Given the description of an element on the screen output the (x, y) to click on. 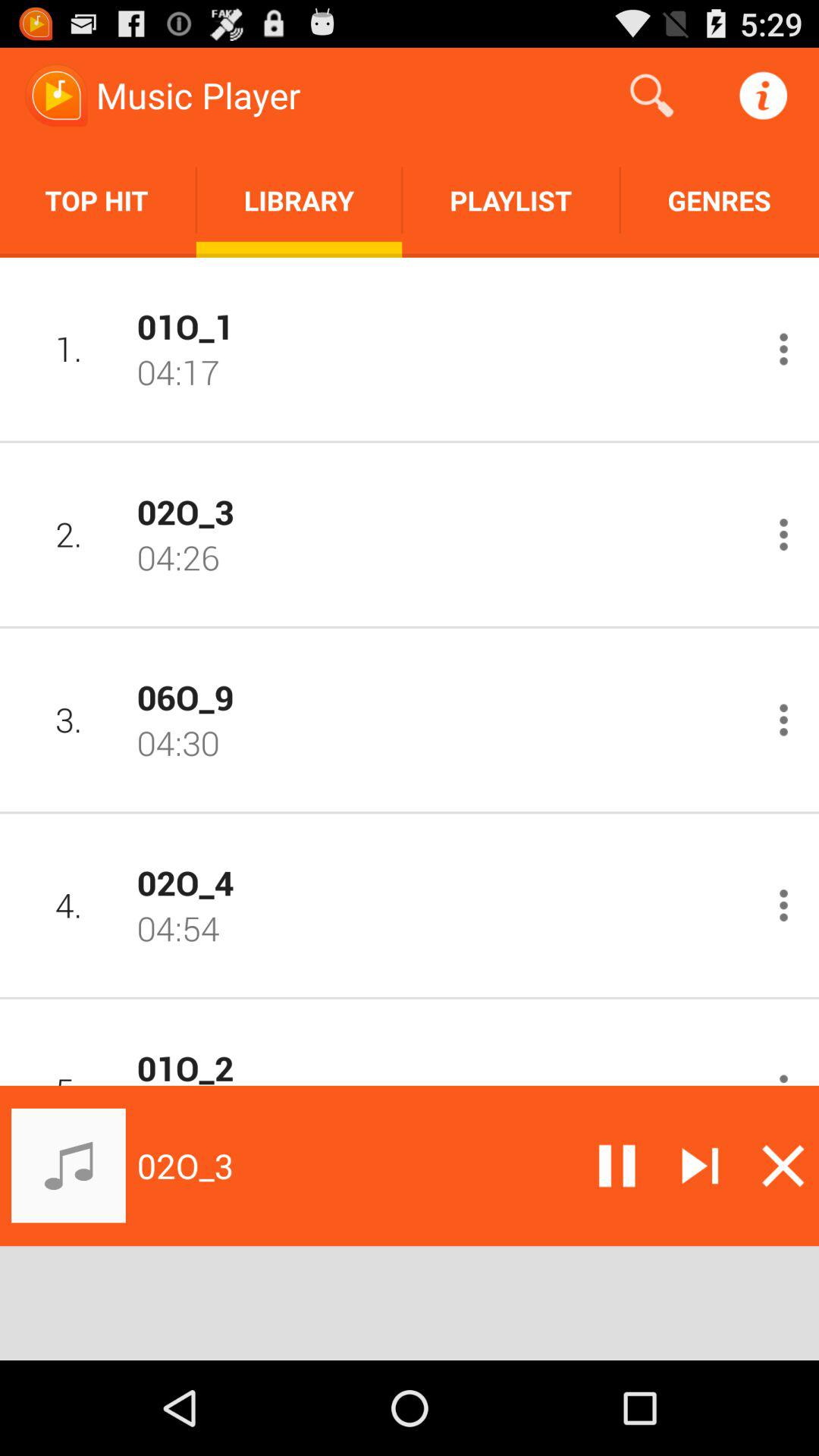
launch the app to the right of playlist (719, 200)
